Given the description of an element on the screen output the (x, y) to click on. 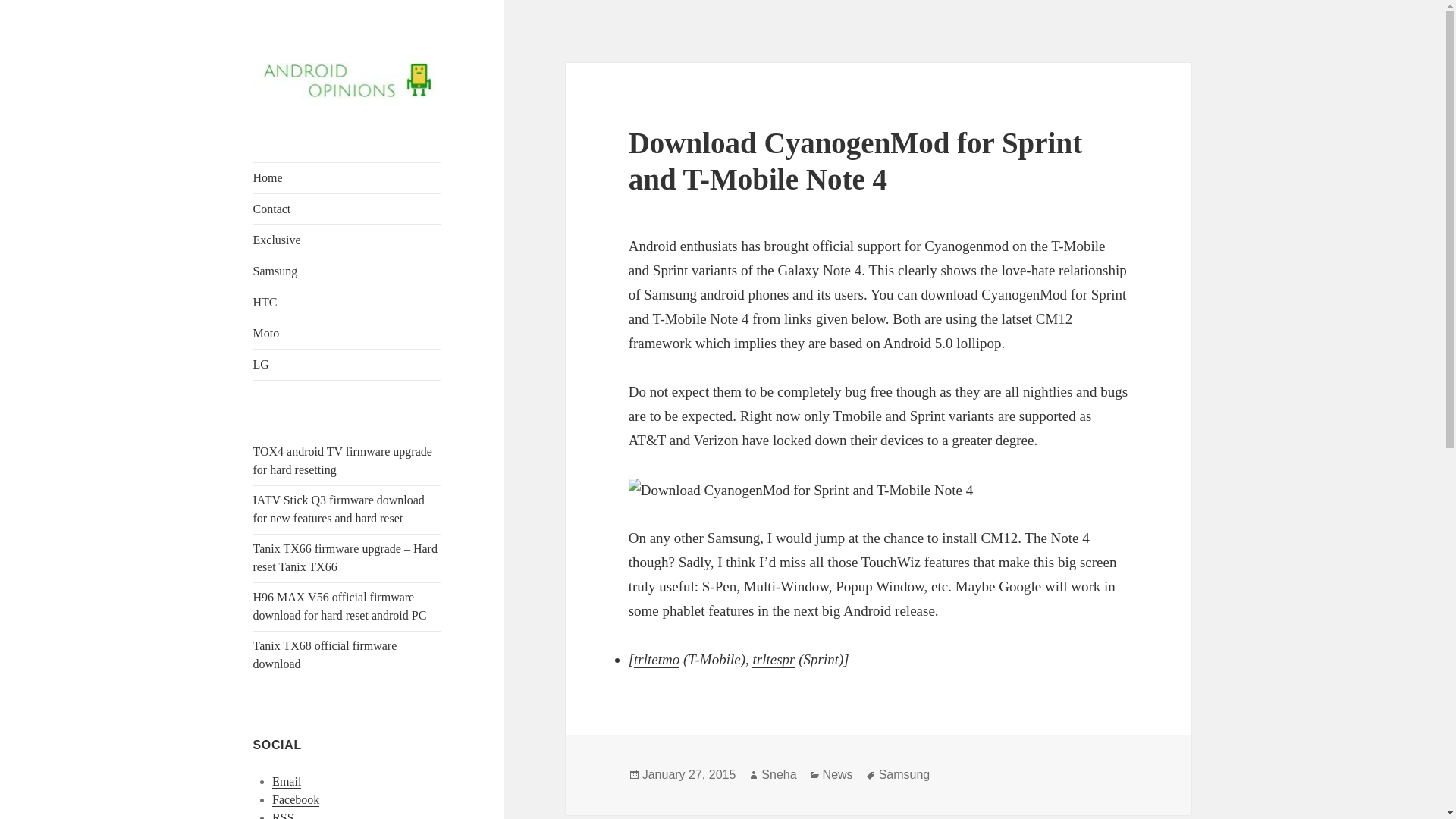
Moto (347, 333)
AndroidOpinions.com (360, 123)
Home (347, 177)
News (837, 775)
trltespr (773, 659)
TOX4 android TV firmware upgrade for hard resetting (342, 460)
HTC (347, 302)
Facebook (295, 799)
Contact (347, 209)
LG (347, 364)
January 27, 2015 (689, 775)
trltetmo (656, 659)
RSS (283, 815)
